Given the description of an element on the screen output the (x, y) to click on. 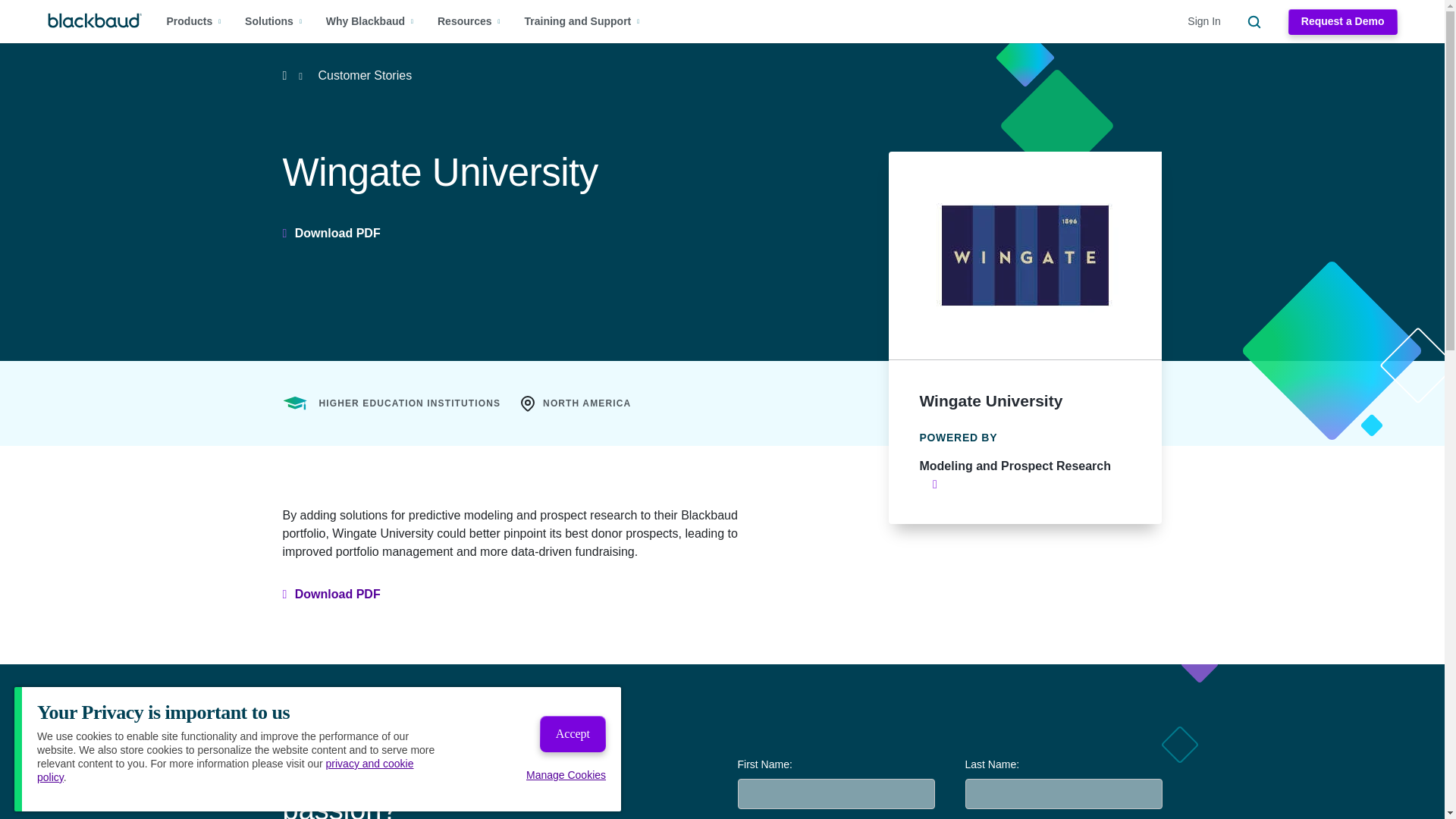
Products (194, 21)
Solutions (272, 21)
Why Blackbaud (369, 21)
